Given the description of an element on the screen output the (x, y) to click on. 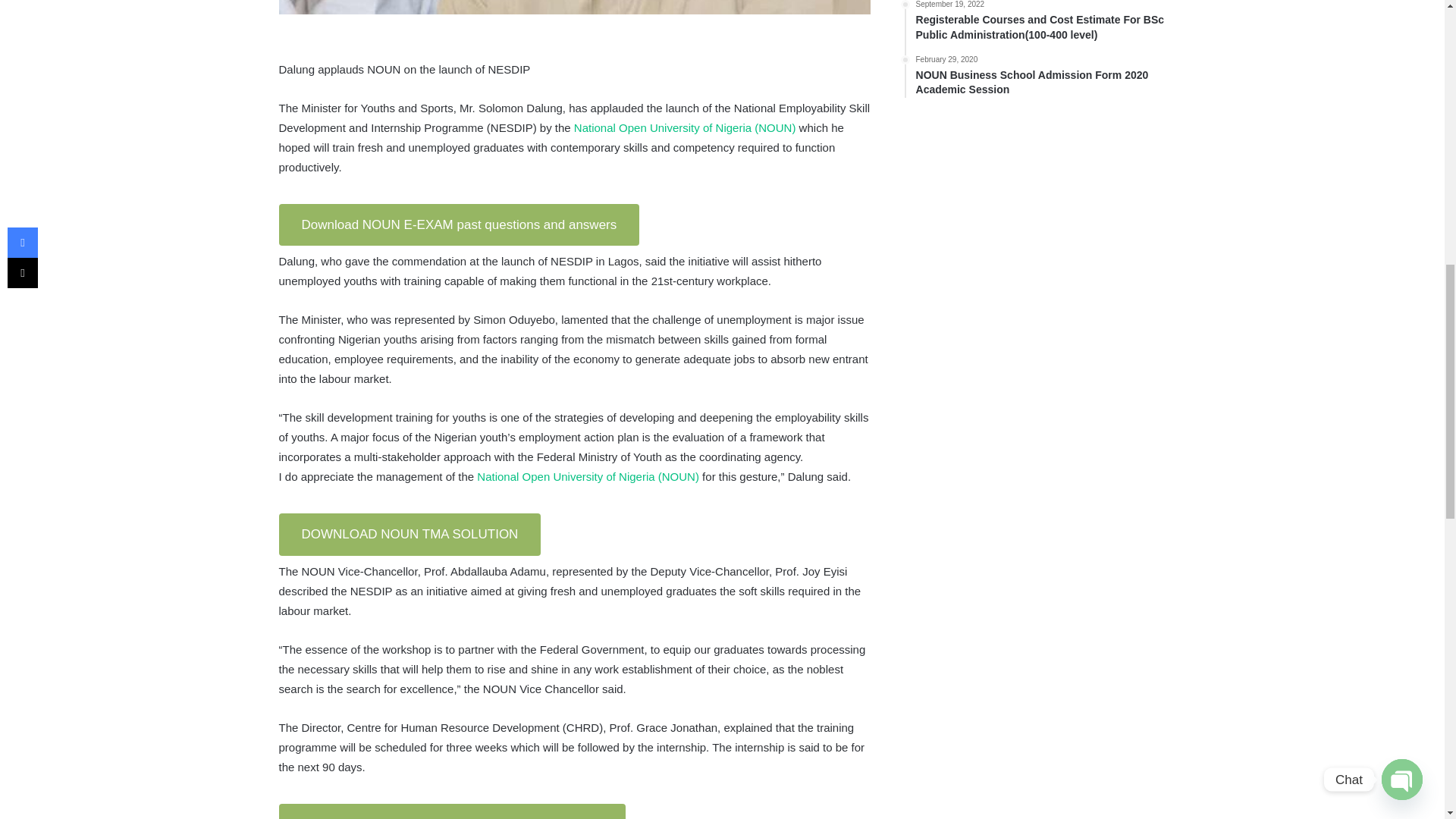
Download NOUN E-EXAM past questions and answers (459, 224)
DOWNLOAD NOUN TMA SOLUTION (410, 534)
Top 11 Things You Need To Know About NOUN TMA (452, 811)
